Given the description of an element on the screen output the (x, y) to click on. 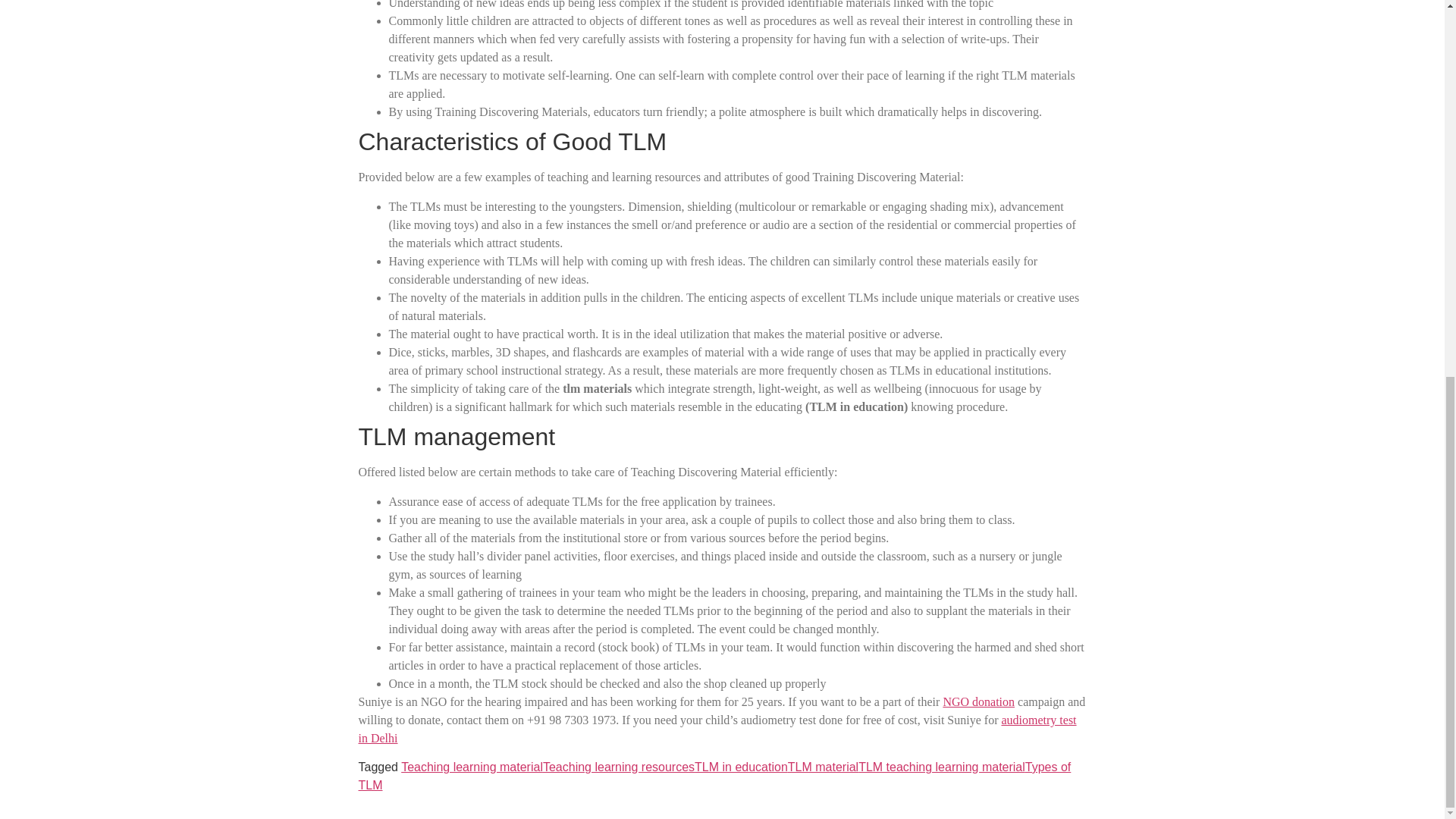
TLM material (823, 766)
Types of TLM (714, 775)
Teaching learning resources (618, 766)
Teaching learning material (472, 766)
NGO donation (978, 701)
TLM teaching learning material (942, 766)
audiometry test in Delhi (716, 728)
TLM in education (740, 766)
